Given the description of an element on the screen output the (x, y) to click on. 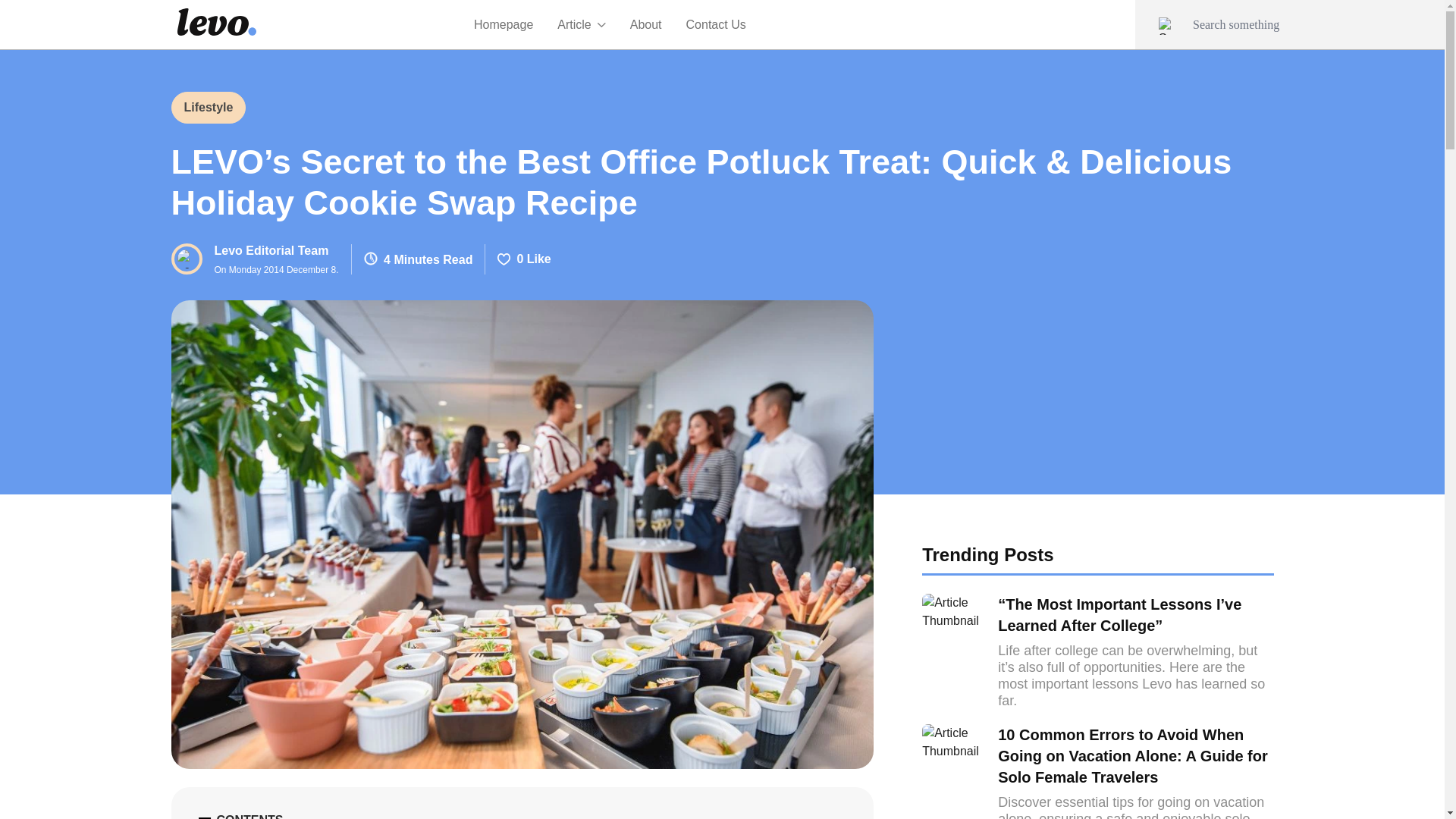
Homepage (503, 24)
Article (581, 23)
About (646, 24)
CONTENTS (255, 258)
Contact Us (522, 815)
Lifestyle (715, 24)
Search Button (208, 107)
